Given the description of an element on the screen output the (x, y) to click on. 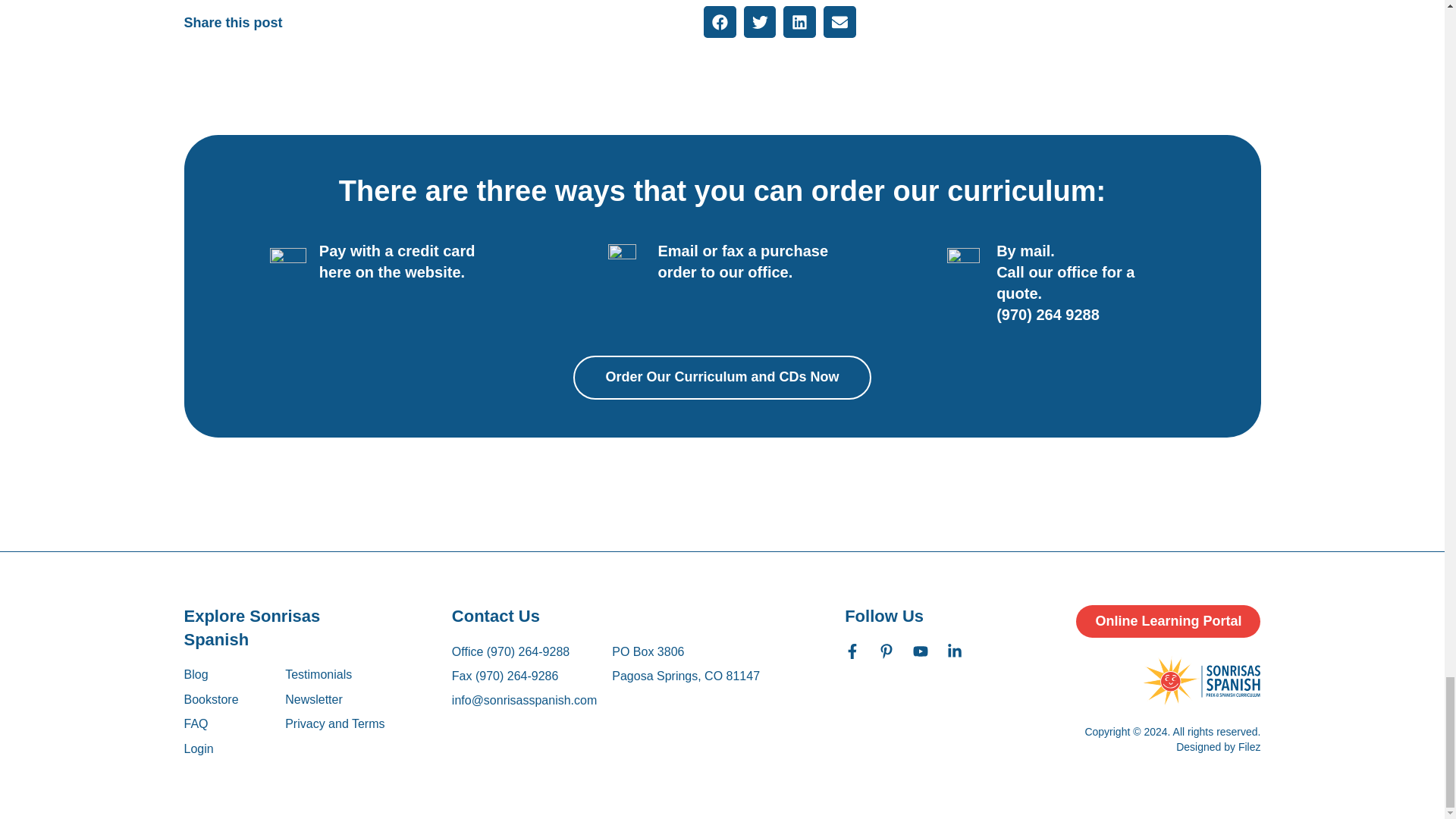
Login (197, 748)
Privacy and Terms (334, 723)
Blog (210, 674)
Online Learning Portal (1167, 621)
FAQ (210, 723)
Order Our Curriculum and CDs Now (721, 376)
Bookstore (210, 699)
Testimonials (334, 674)
Newsletter (334, 699)
